Given the description of an element on the screen output the (x, y) to click on. 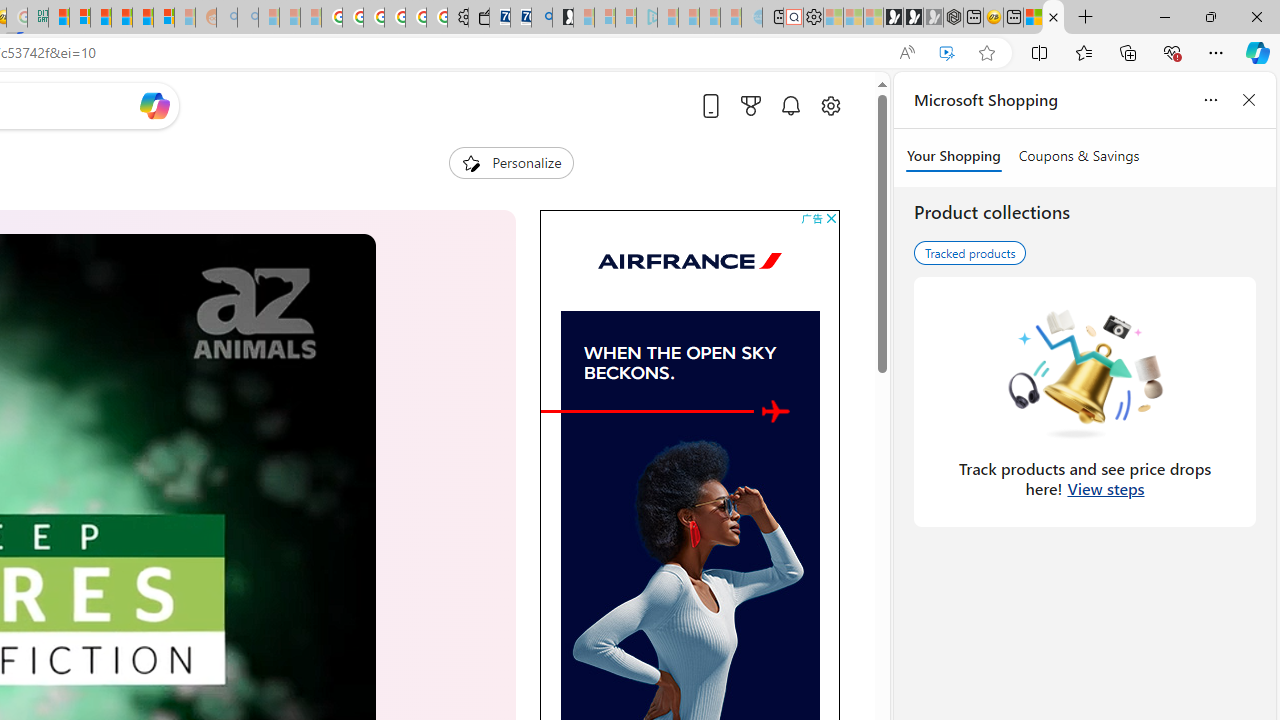
Microsoft Start Gaming (563, 17)
Microsoft account | Privacy - Sleeping (625, 17)
Nordace - Nordace Siena Is Not An Ordinary Backpack (952, 17)
Enhance video (946, 53)
